Given the description of an element on the screen output the (x, y) to click on. 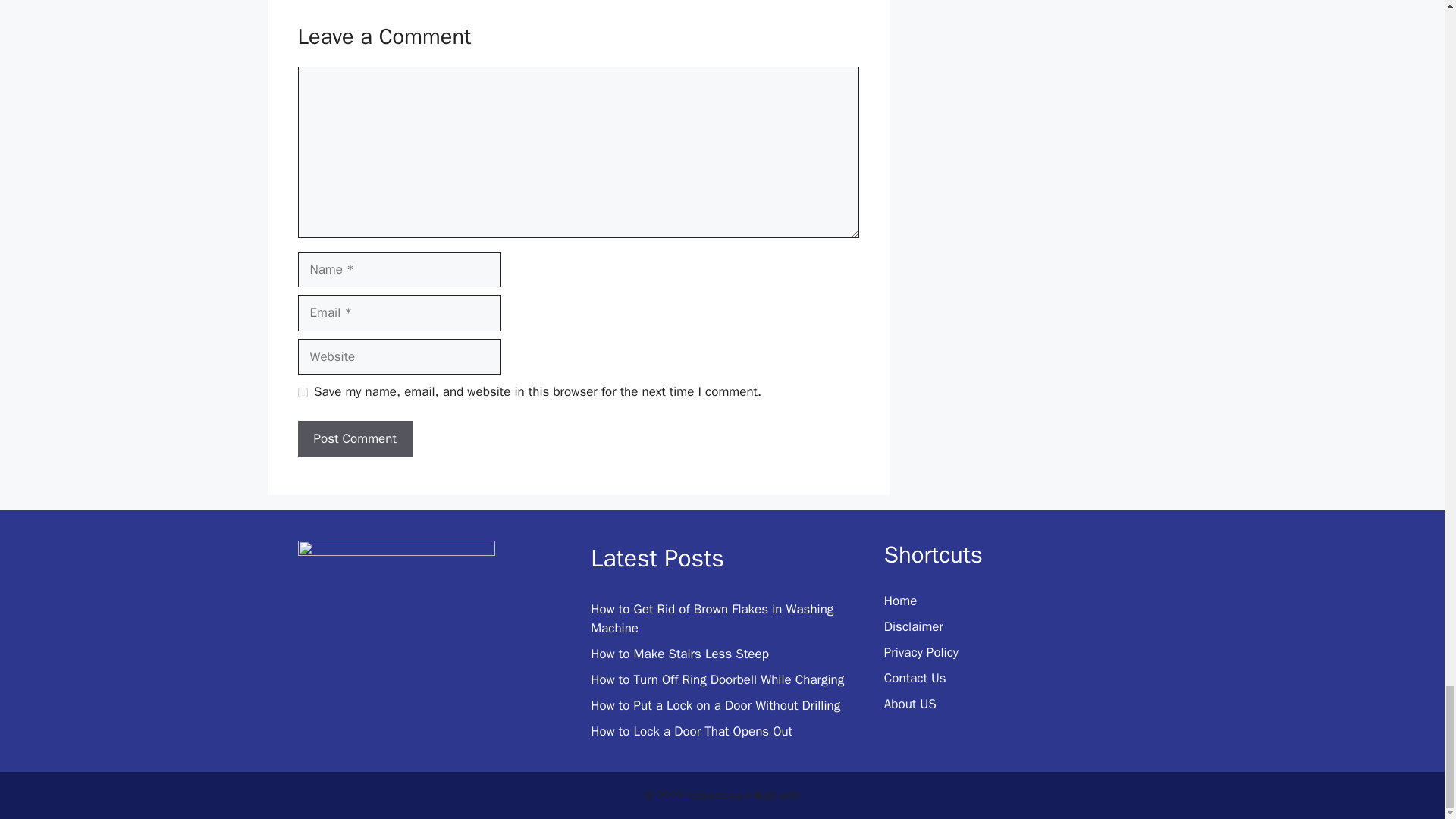
How to Get Rid of Brown Flakes in Washing Machine (711, 619)
Post Comment (354, 438)
Post Comment (354, 438)
yes (302, 392)
